Given the description of an element on the screen output the (x, y) to click on. 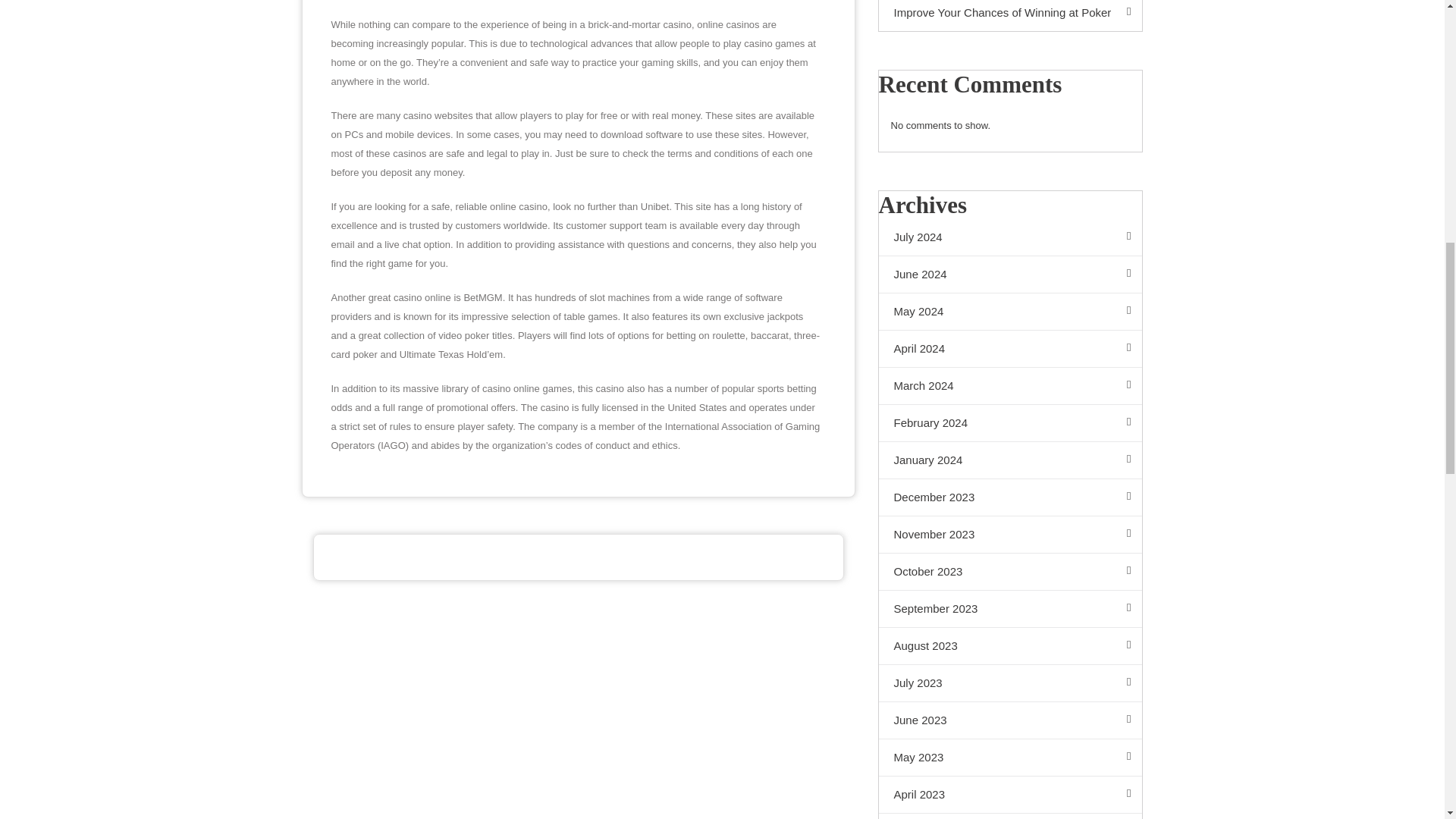
May 2023 (1009, 757)
January 2024 (1009, 460)
September 2023 (1009, 609)
May 2024 (1009, 311)
November 2023 (1009, 534)
June 2024 (1009, 274)
April 2024 (1009, 348)
August 2023 (1009, 646)
July 2024 (1009, 237)
December 2023 (1009, 497)
October 2023 (1009, 571)
Improve Your Chances of Winning at Poker (1009, 15)
March 2024 (1009, 385)
July 2023 (1009, 683)
June 2023 (1009, 720)
